Given the description of an element on the screen output the (x, y) to click on. 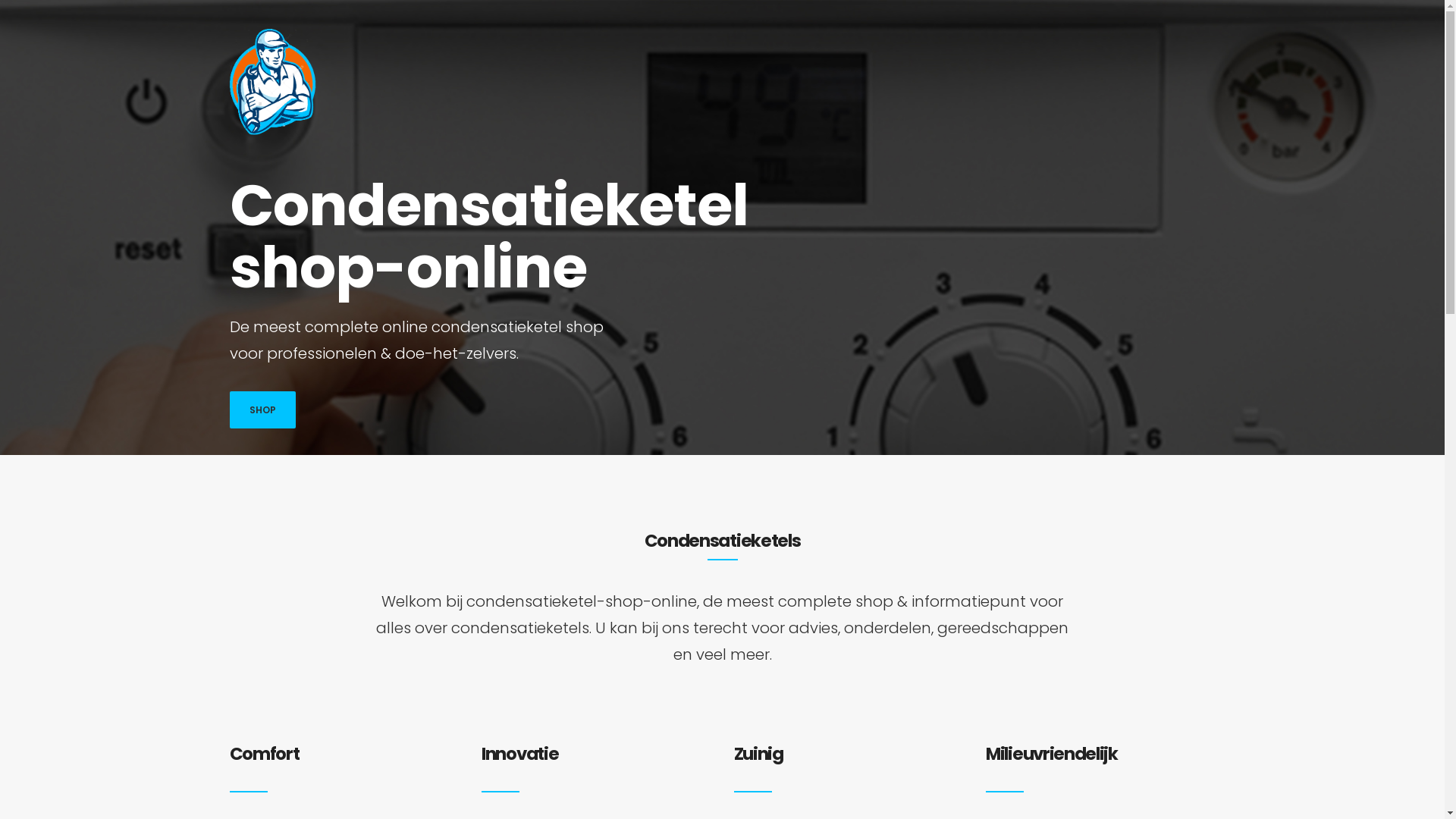
SHOP Element type: text (261, 409)
